Given the description of an element on the screen output the (x, y) to click on. 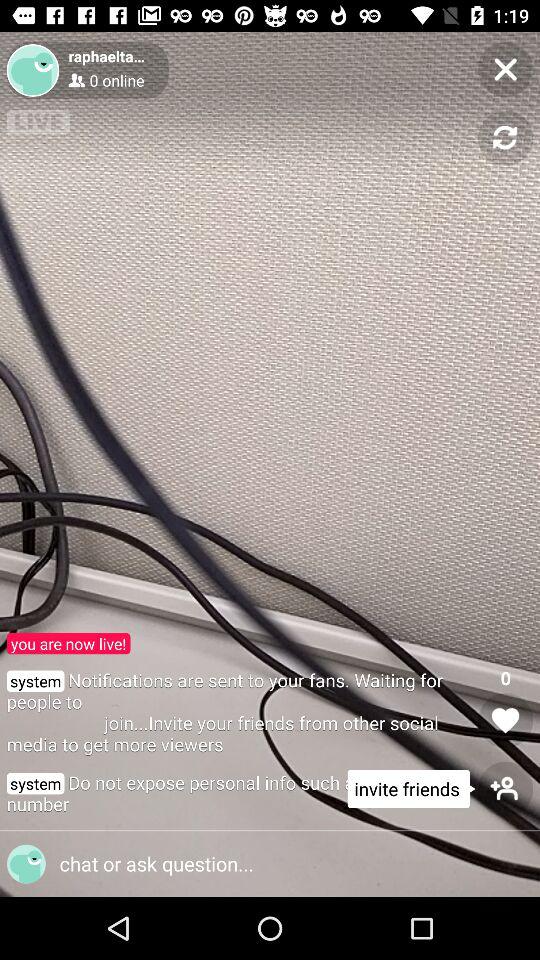
refresh the page (505, 137)
